Given the description of an element on the screen output the (x, y) to click on. 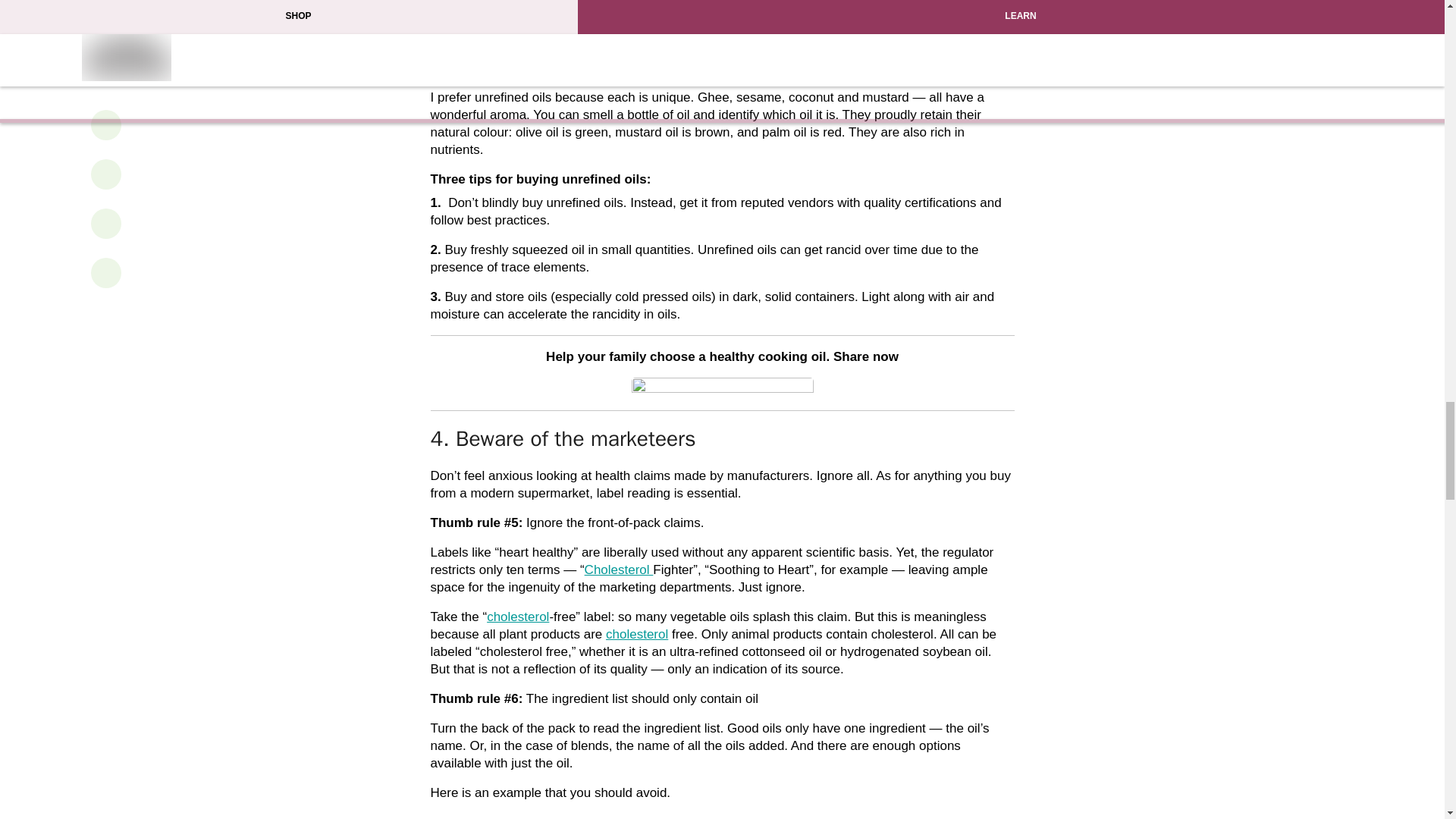
Cholesterol (619, 569)
cholesterol (517, 616)
cholesterol (636, 634)
